Given the description of an element on the screen output the (x, y) to click on. 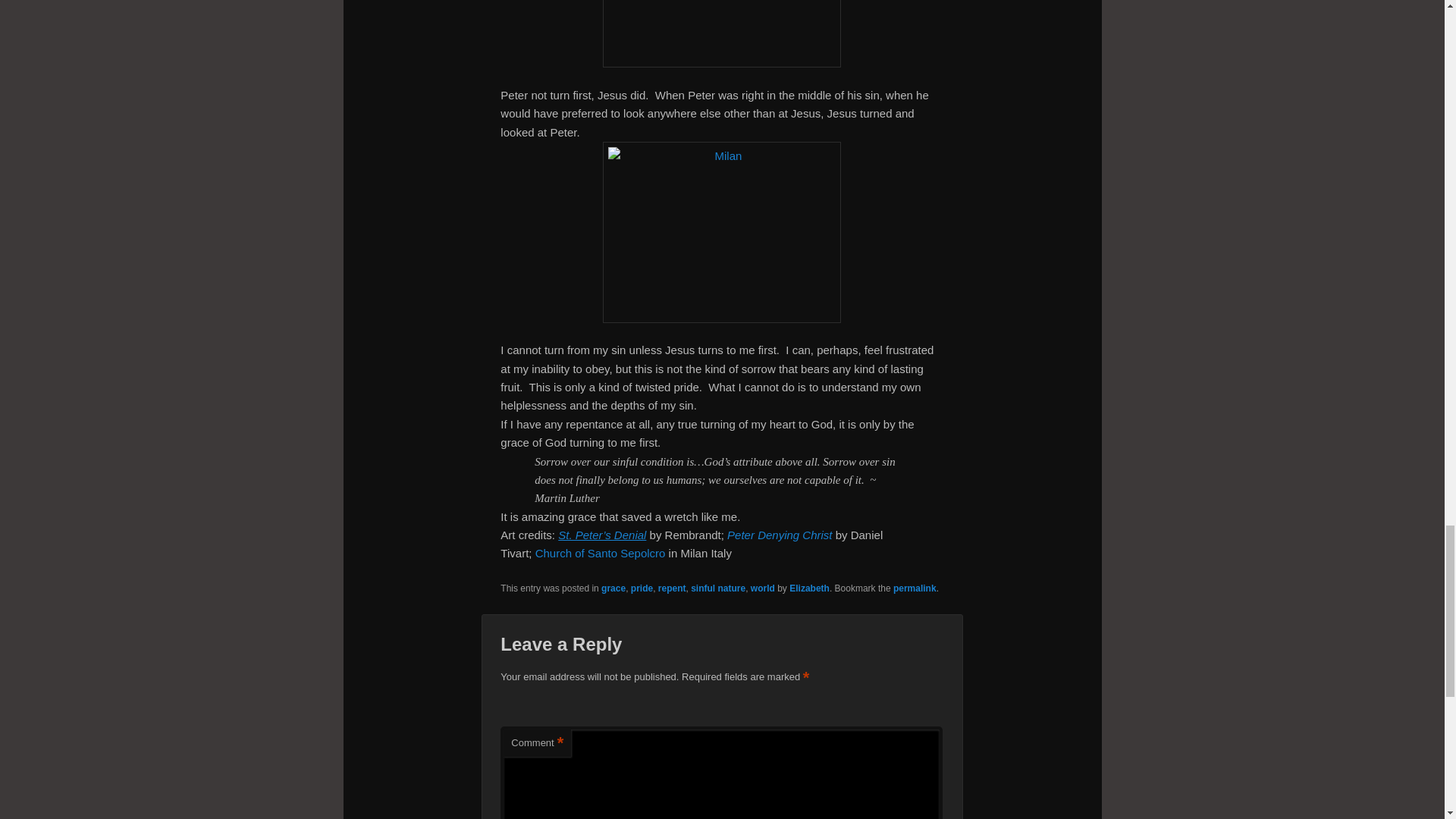
sinful nature (717, 588)
Permalink to Caught (914, 588)
Tivart (778, 534)
Milan (721, 231)
permalink (914, 588)
Tivart (721, 33)
pride (641, 588)
Elizabeth (809, 588)
Rembrandt (601, 534)
world (762, 588)
grace (613, 588)
repent (671, 588)
Church of Santo Sepolcro (600, 553)
Milan (600, 553)
Peter Denying Christ (778, 534)
